Given the description of an element on the screen output the (x, y) to click on. 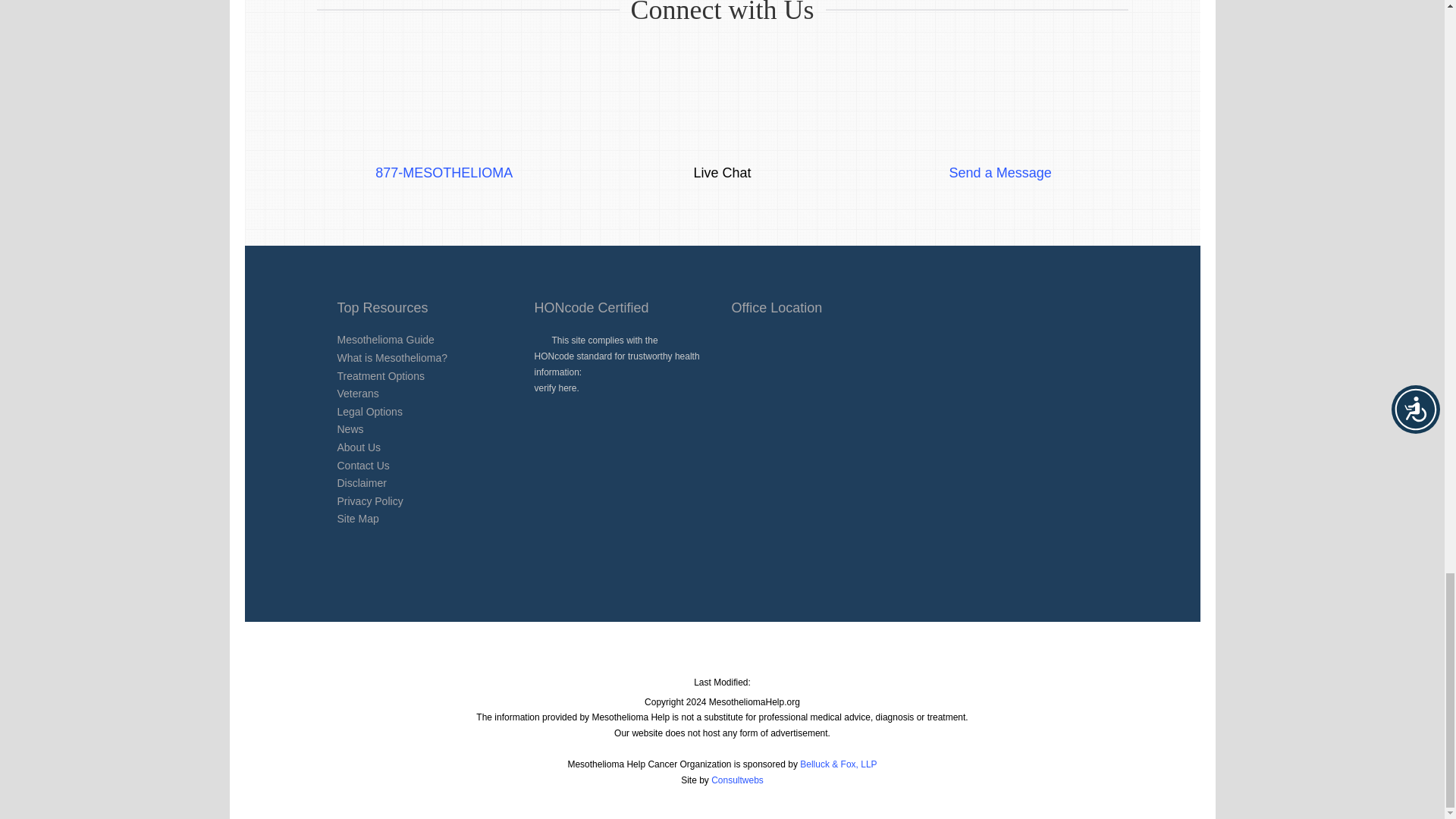
877-MESOTHELIOMA (443, 153)
News (349, 428)
Live Chat (721, 153)
Privacy Policy (369, 500)
Contact Us (362, 465)
Send a Message (1000, 153)
Treatment Options (379, 376)
Legal Options (368, 411)
About Us (358, 447)
Veterans (357, 393)
Mesothelioma Guide (384, 339)
Disclaimer (360, 482)
What is Mesothelioma? (391, 357)
